Given the description of an element on the screen output the (x, y) to click on. 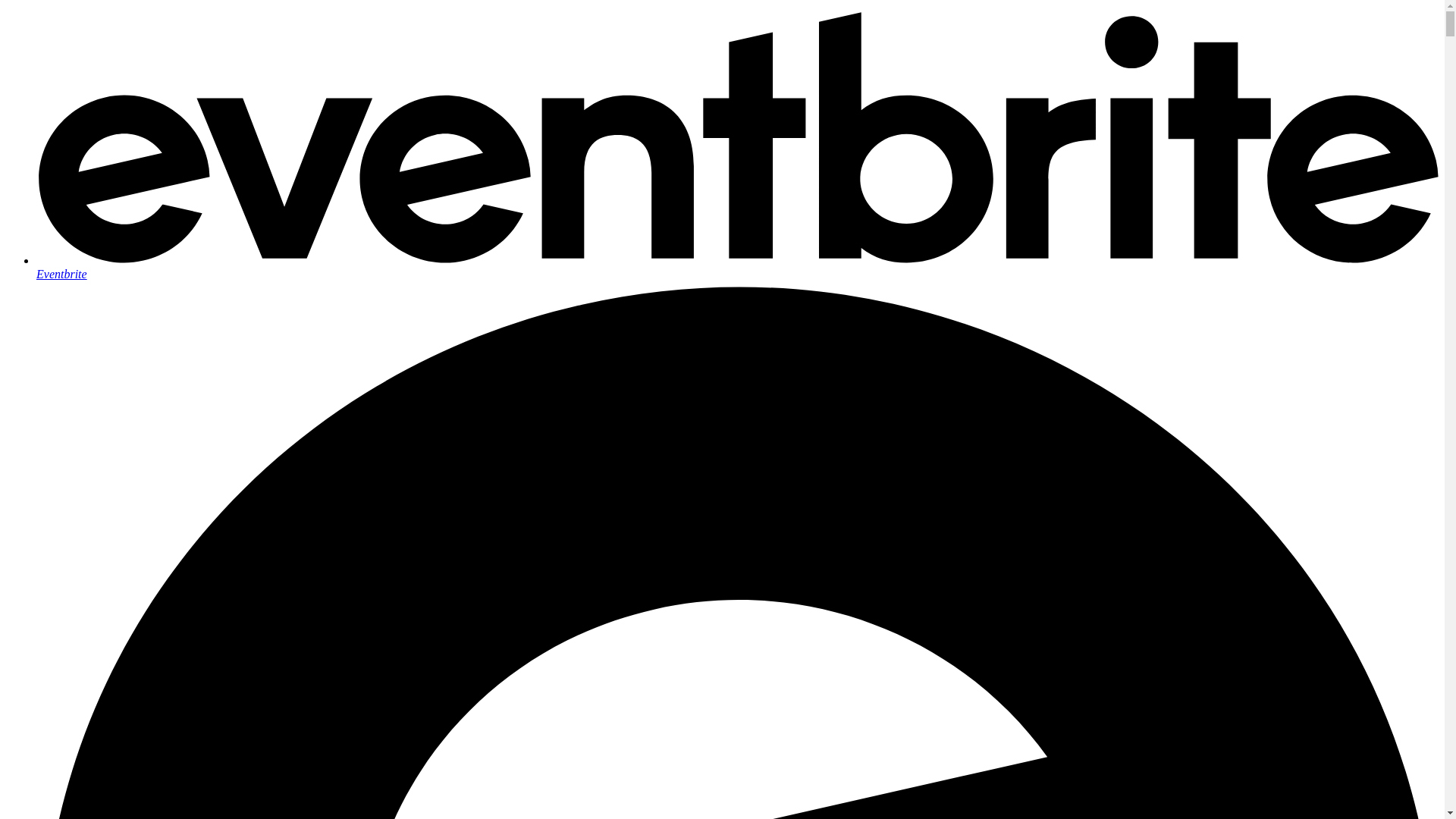
Eventbrite Element type: text (737, 267)
